Given the description of an element on the screen output the (x, y) to click on. 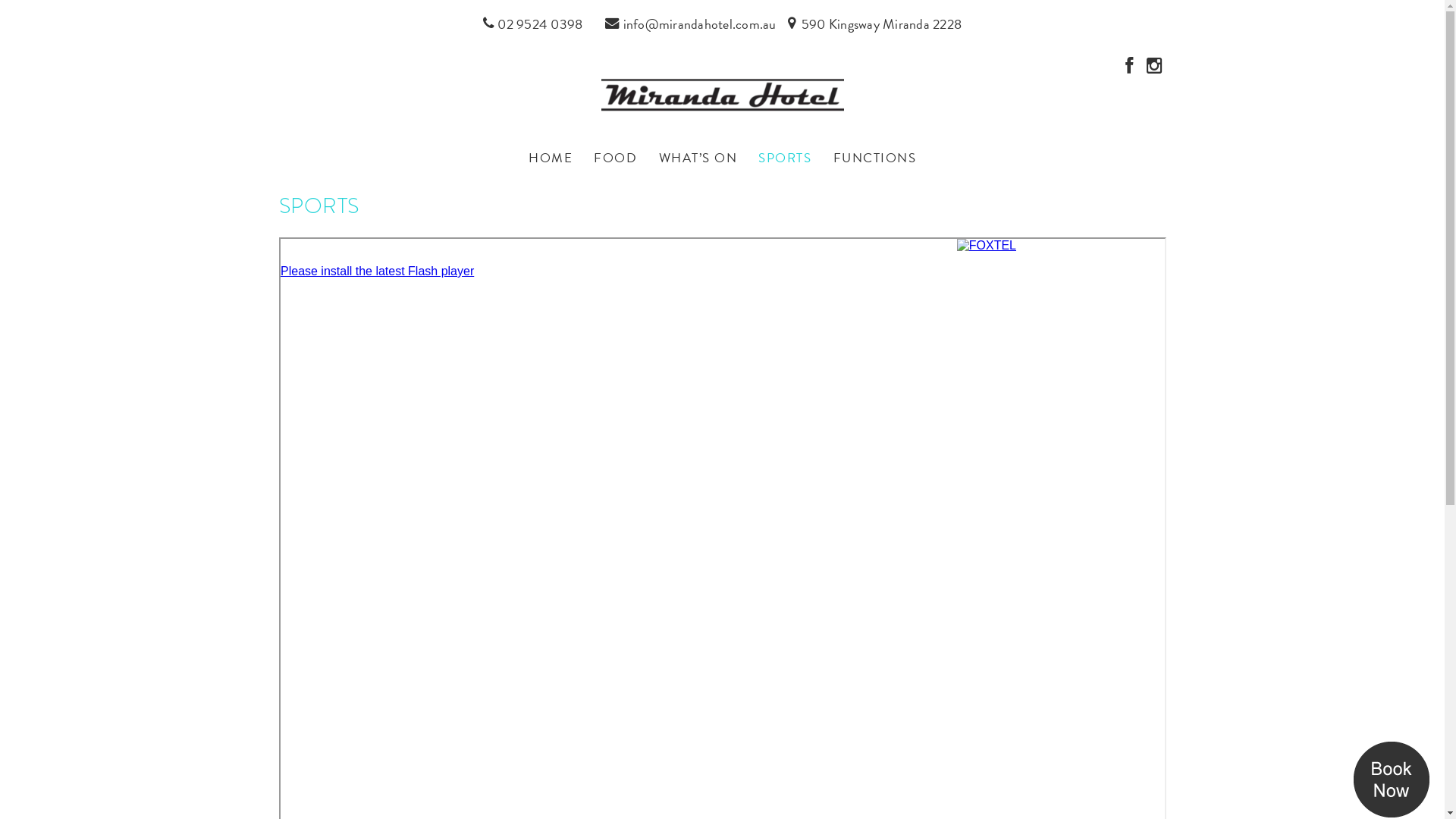
02 9524 0398 Element type: text (532, 21)
HOME Element type: text (550, 158)
Follow us on Instagram Element type: hover (1154, 67)
SPORTS Element type: text (784, 158)
Submit Feedback Element type: text (792, 469)
FOOD Element type: text (615, 158)
Like us on Facebook Element type: hover (1128, 67)
Back to Miranda Hotel homepage  Element type: hover (721, 92)
FUNCTIONS Element type: text (874, 158)
info@mirandahotel.com.au Element type: text (690, 21)
